Given the description of an element on the screen output the (x, y) to click on. 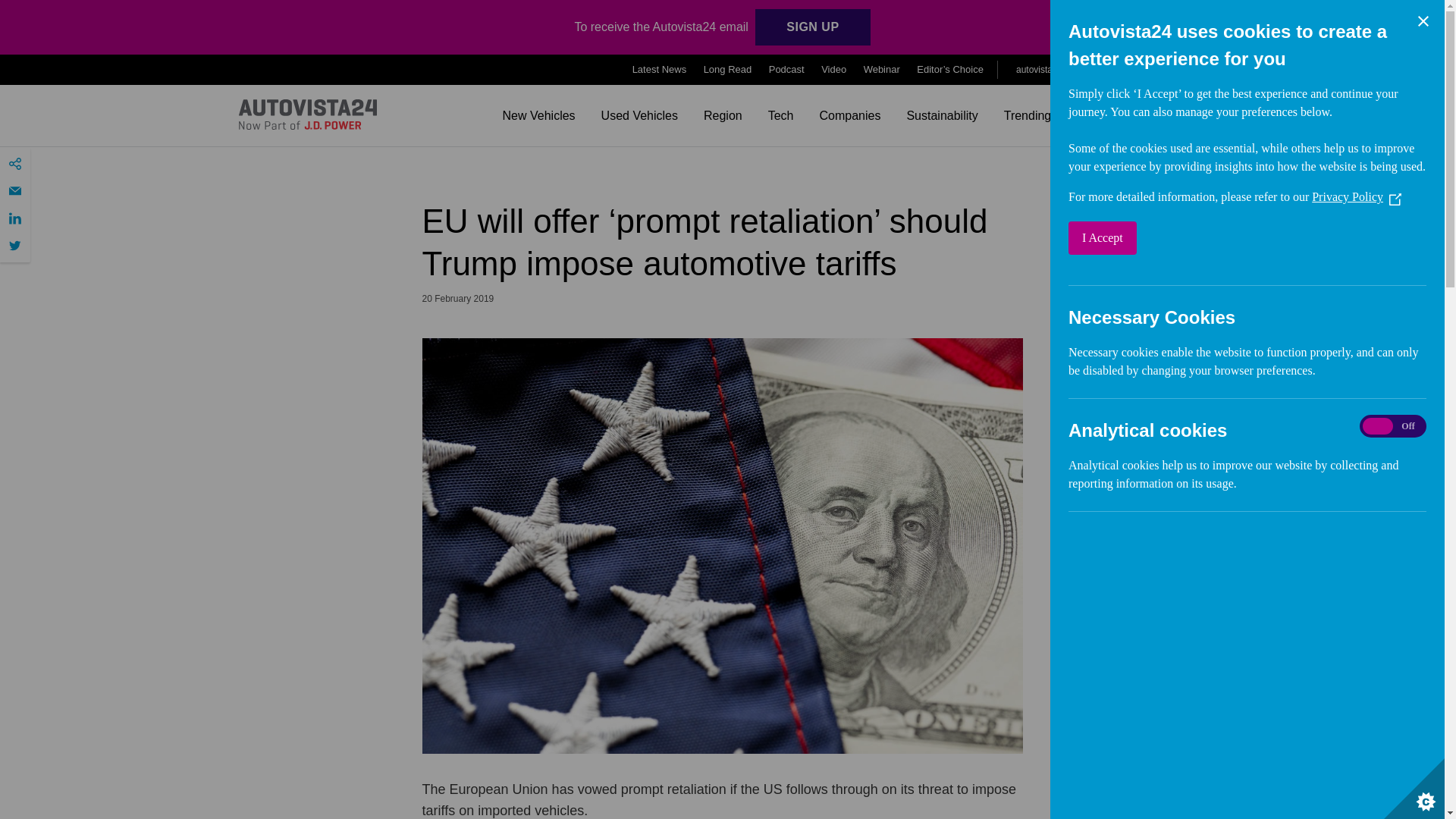
Podcast (786, 69)
I Accept (1218, 237)
Long Read (727, 69)
SIGN UP (812, 27)
autovistagroup.com (1060, 69)
Products (1173, 69)
Video (833, 69)
Latest News (659, 69)
Webinar (881, 69)
